Given the description of an element on the screen output the (x, y) to click on. 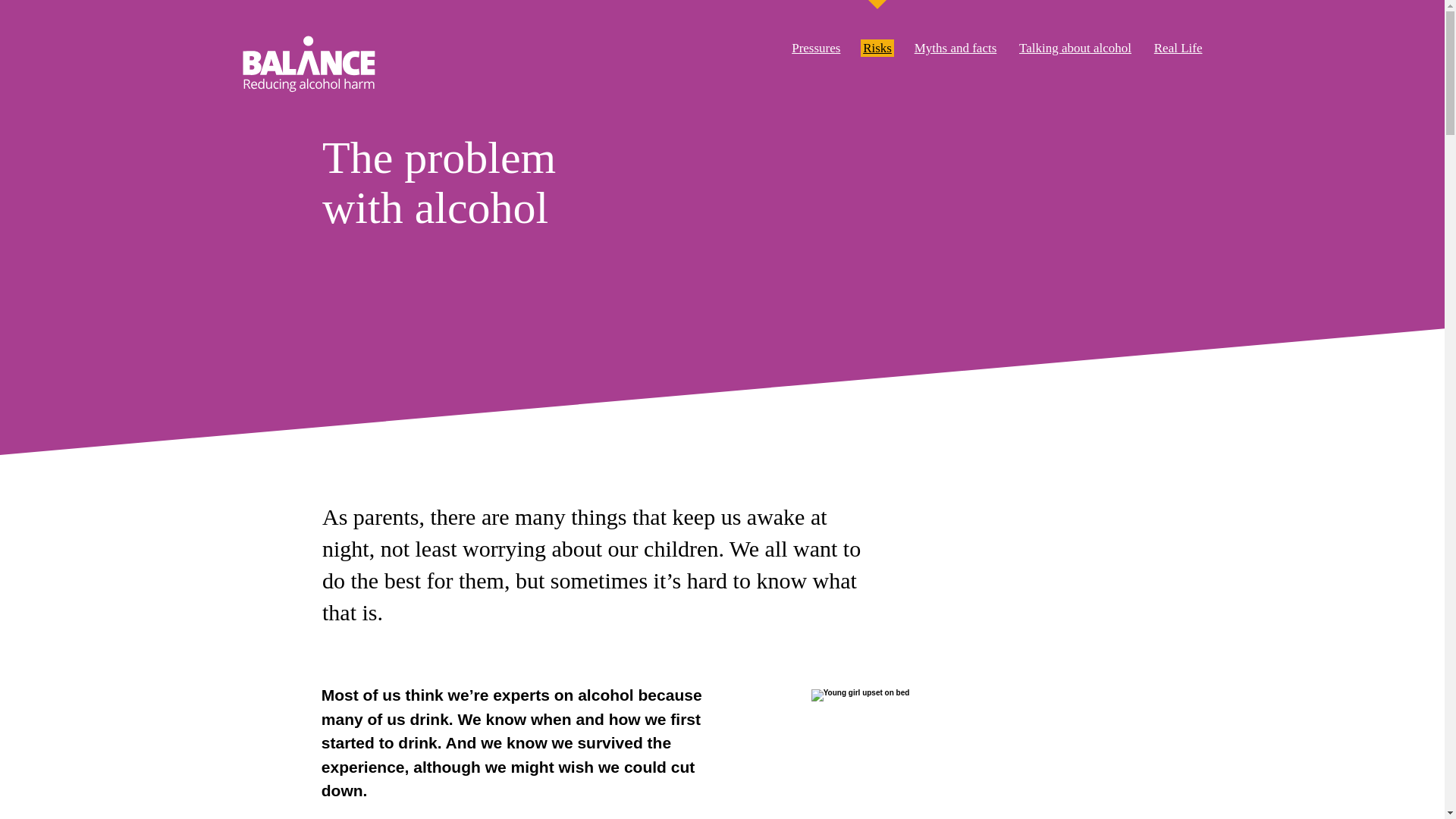
Risks (877, 47)
Myths and facts (955, 47)
Real Life (1178, 47)
Pressures (816, 47)
Talking about alcohol (1075, 47)
